Given the description of an element on the screen output the (x, y) to click on. 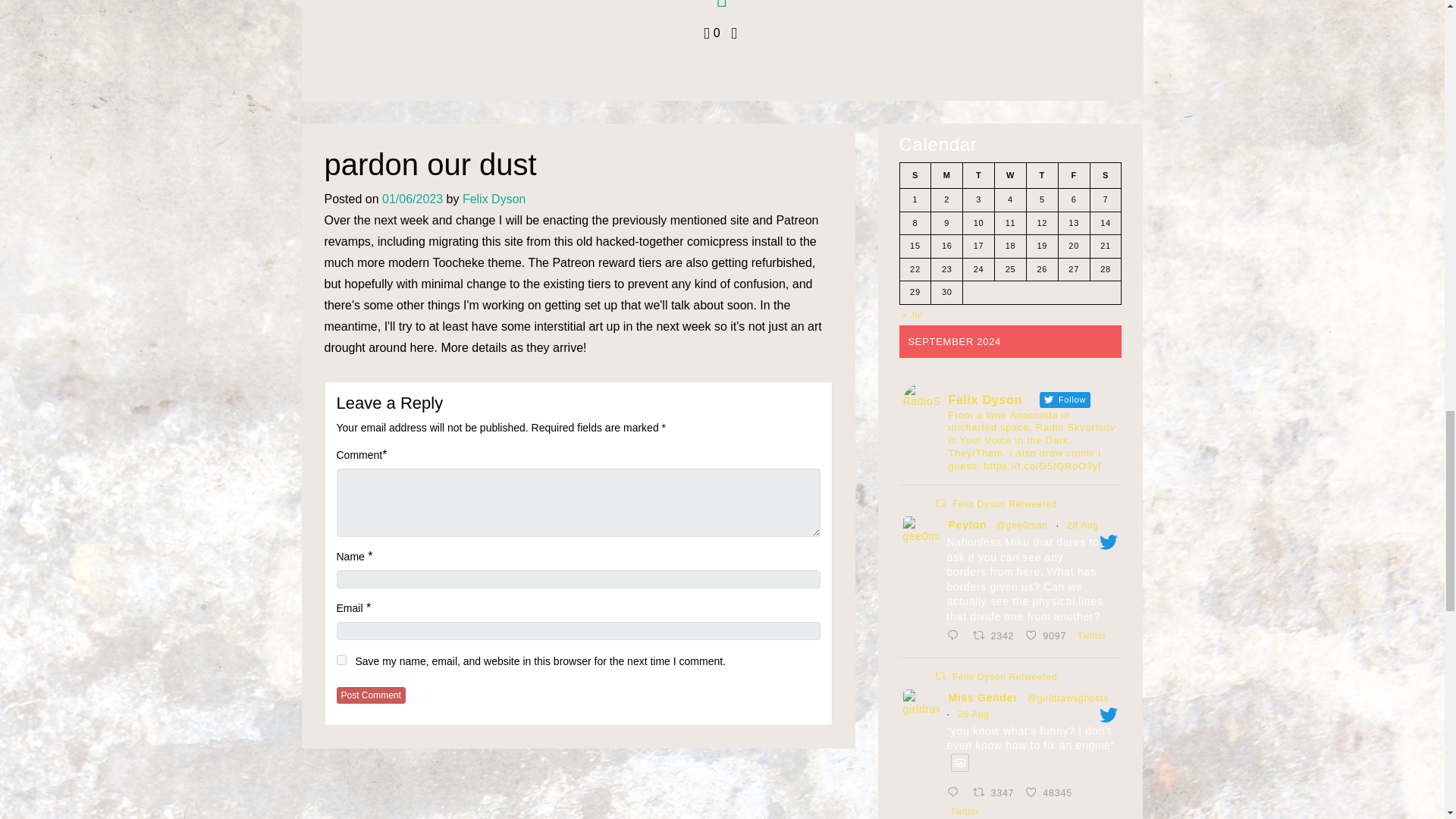
Retweet on Twitter (939, 675)
Felix Dyson Retweeted (1004, 503)
Reply on Twitter 1828877797605183921 (1048, 636)
Retweet on Twitter (956, 636)
Post Comment (939, 502)
Post Comment (371, 695)
yes (371, 695)
Felix Dyson (341, 660)
28 Aug (494, 198)
